Given the description of an element on the screen output the (x, y) to click on. 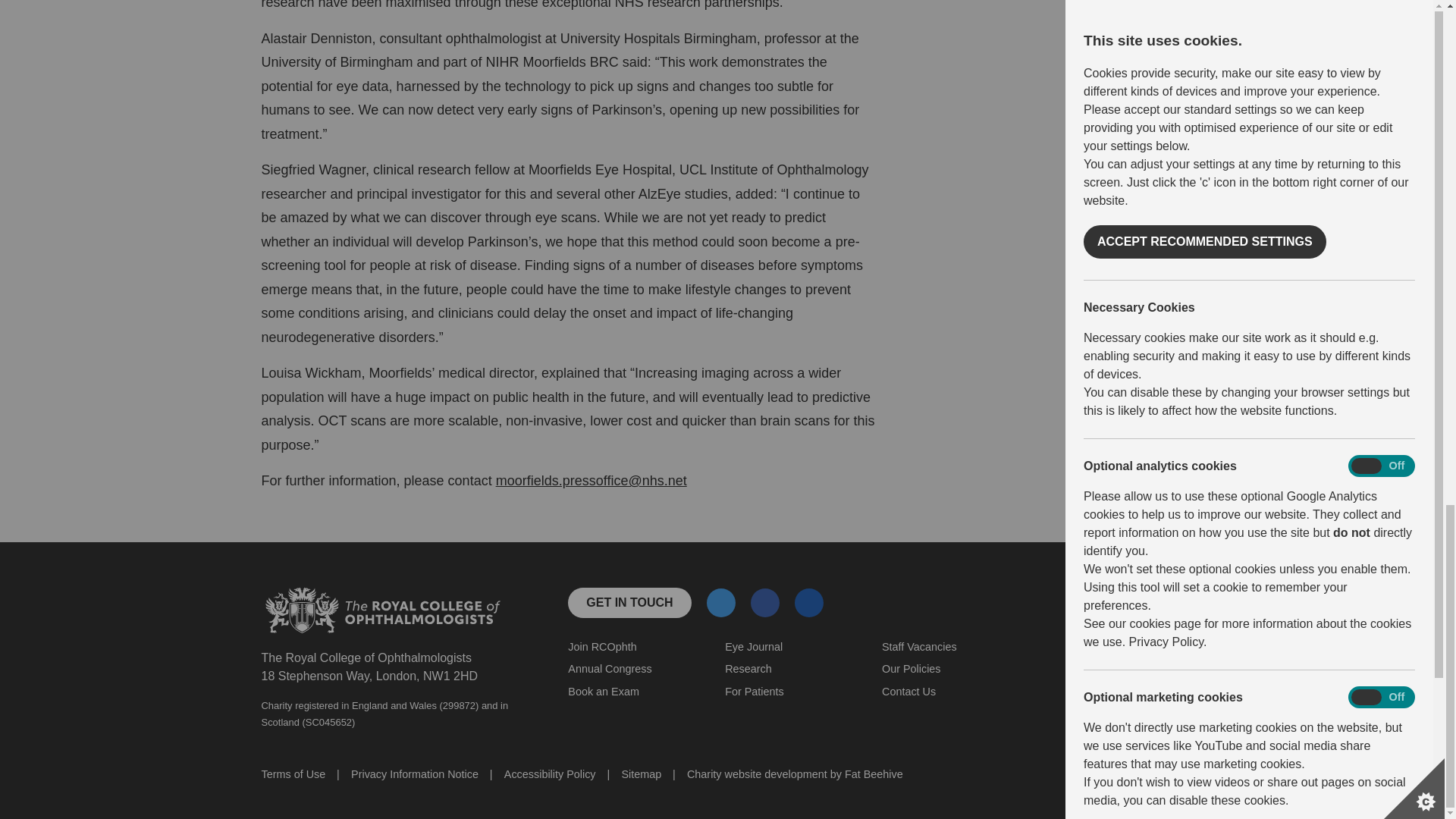
Twitter (720, 602)
Facebook (764, 602)
Linkedin (808, 603)
